Given the description of an element on the screen output the (x, y) to click on. 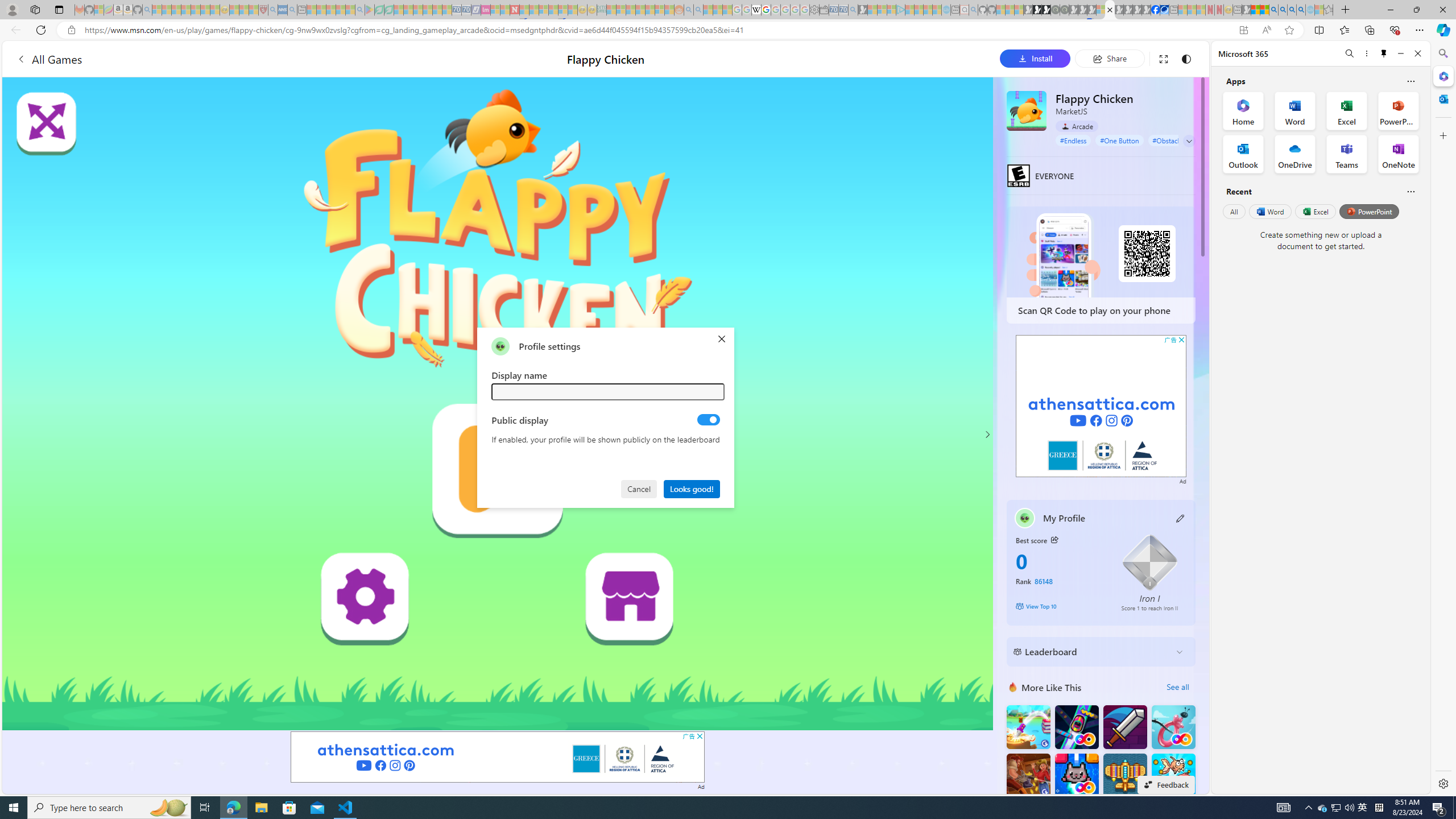
Advertisement (1101, 405)
Utah sues federal government - Search - Sleeping (697, 9)
Nordace | Facebook (1154, 9)
Recipes - MSN - Sleeping (234, 9)
Arcade (1076, 125)
AutomationID: canvas (497, 403)
